Given the description of an element on the screen output the (x, y) to click on. 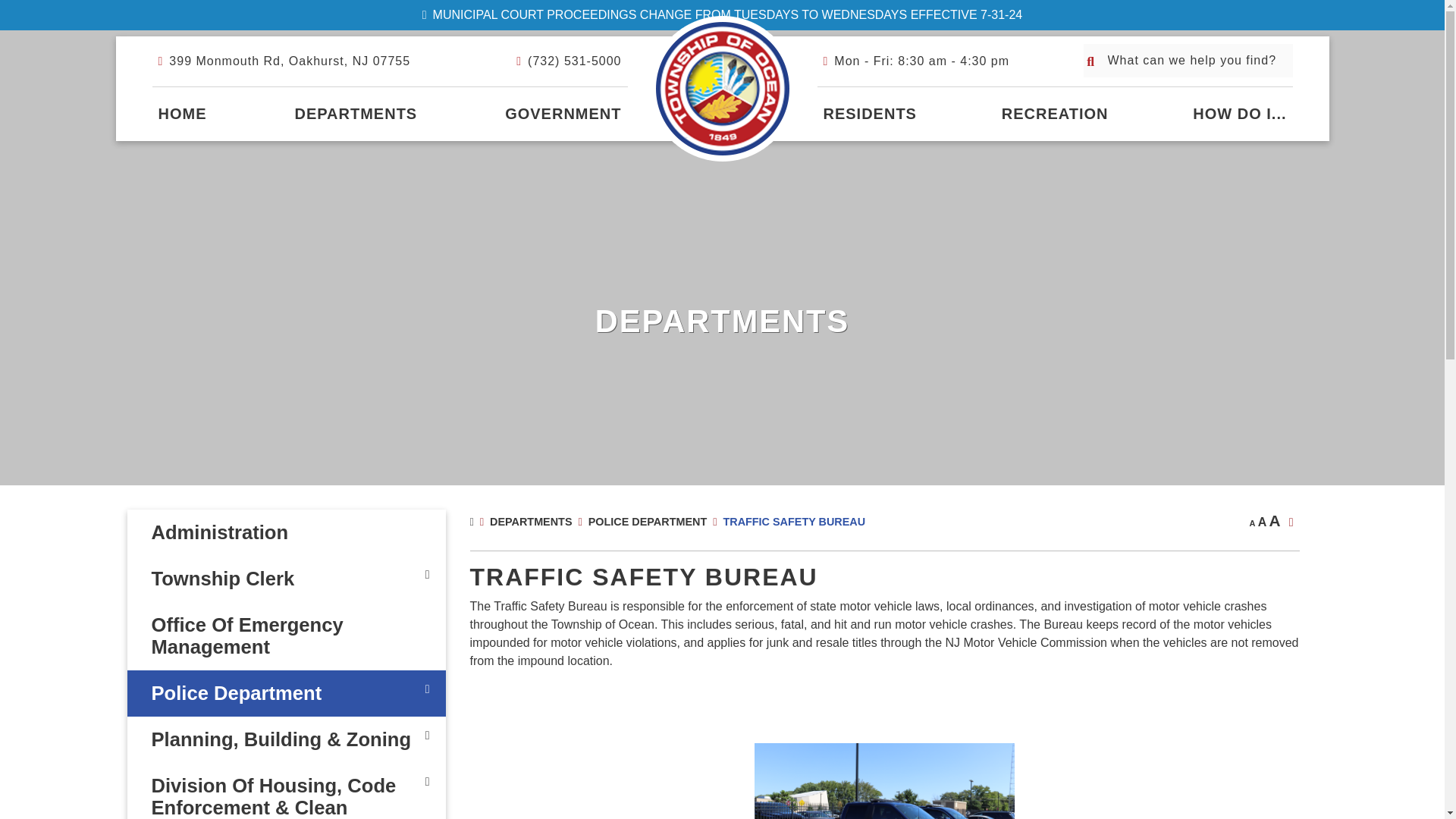
Click to view our business hours (916, 61)
Go to home (181, 113)
399 Monmouth Rd, Oakhurst, NJ 07755 (283, 61)
DEPARTMENTS (355, 113)
Welcome to Township of Ocean - Traffic Safety Bureau (722, 88)
Township of Ocean - Traffic Safety Bureau (722, 88)
Click to view Departments (355, 113)
HOME (181, 113)
Our office is located at 399 Monmouth Rd, Oakhurst, NJ 07755 (283, 61)
Mon - Fri: 8:30 am - 4:30 pm (916, 61)
